Given the description of an element on the screen output the (x, y) to click on. 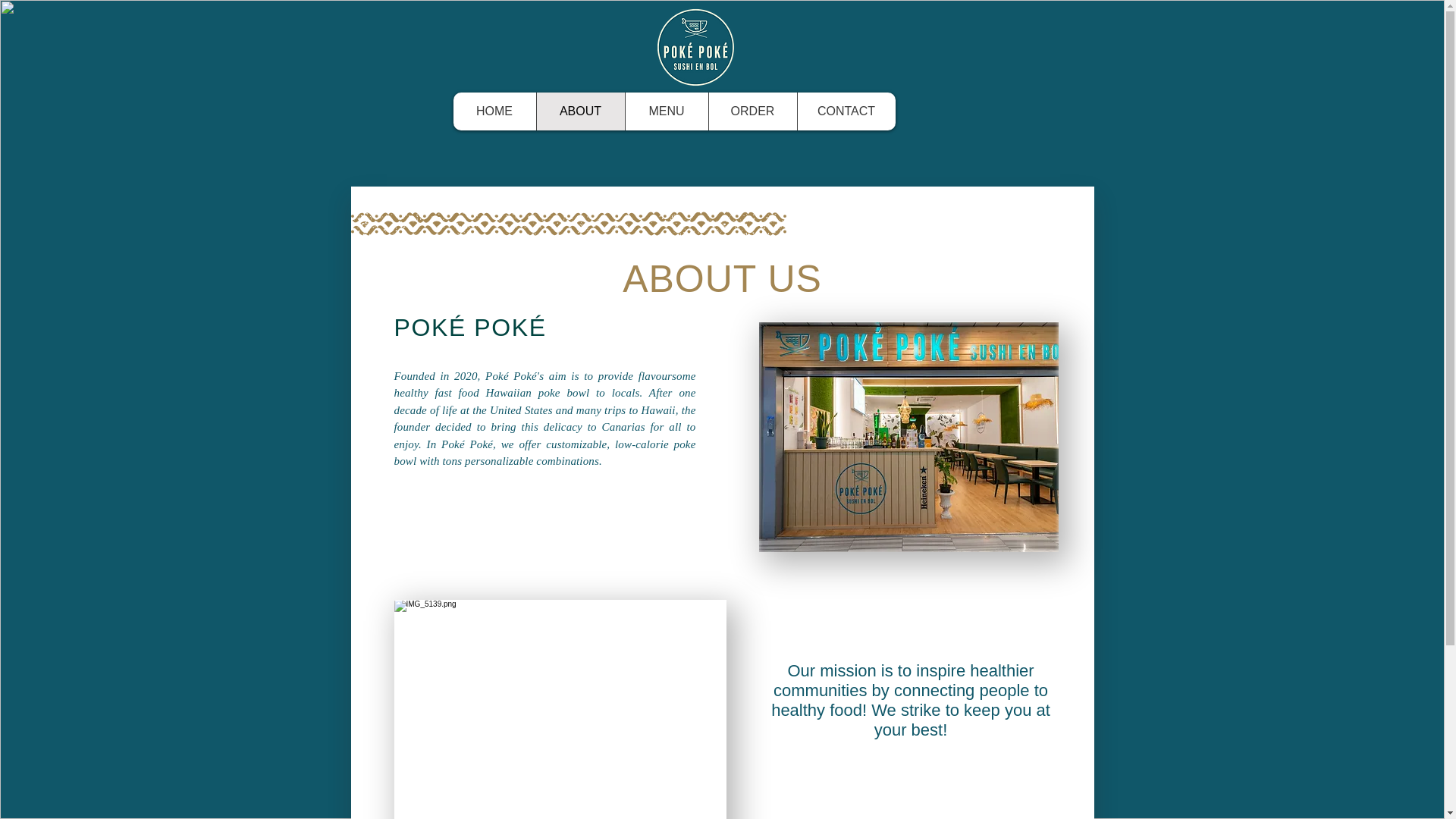
CONTACT (845, 111)
MENU (665, 111)
HOME (493, 111)
ABOUT (579, 111)
ORDER (751, 111)
